Given the description of an element on the screen output the (x, y) to click on. 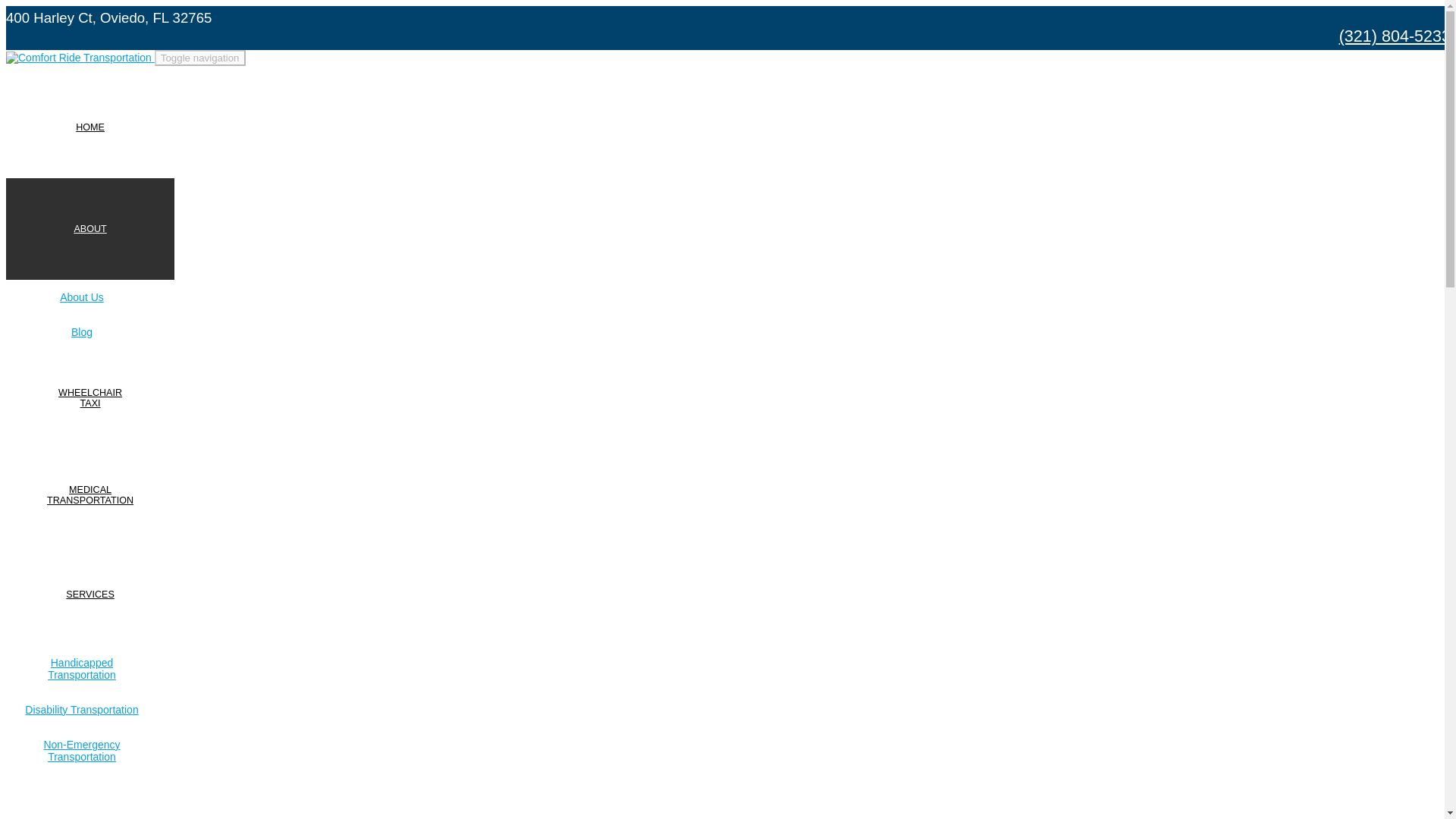
Wheelchair Taxi (89, 397)
Blog (81, 331)
Non-Emergency Transportation (81, 750)
About Us (82, 297)
CONTACT (89, 494)
HOME (89, 796)
SERVICES (89, 127)
Toggle navigation (89, 594)
Home (200, 57)
About (89, 127)
Non-Emergency Transportation (89, 229)
Handicapped Transportation (89, 397)
ABOUT (81, 750)
